Given the description of an element on the screen output the (x, y) to click on. 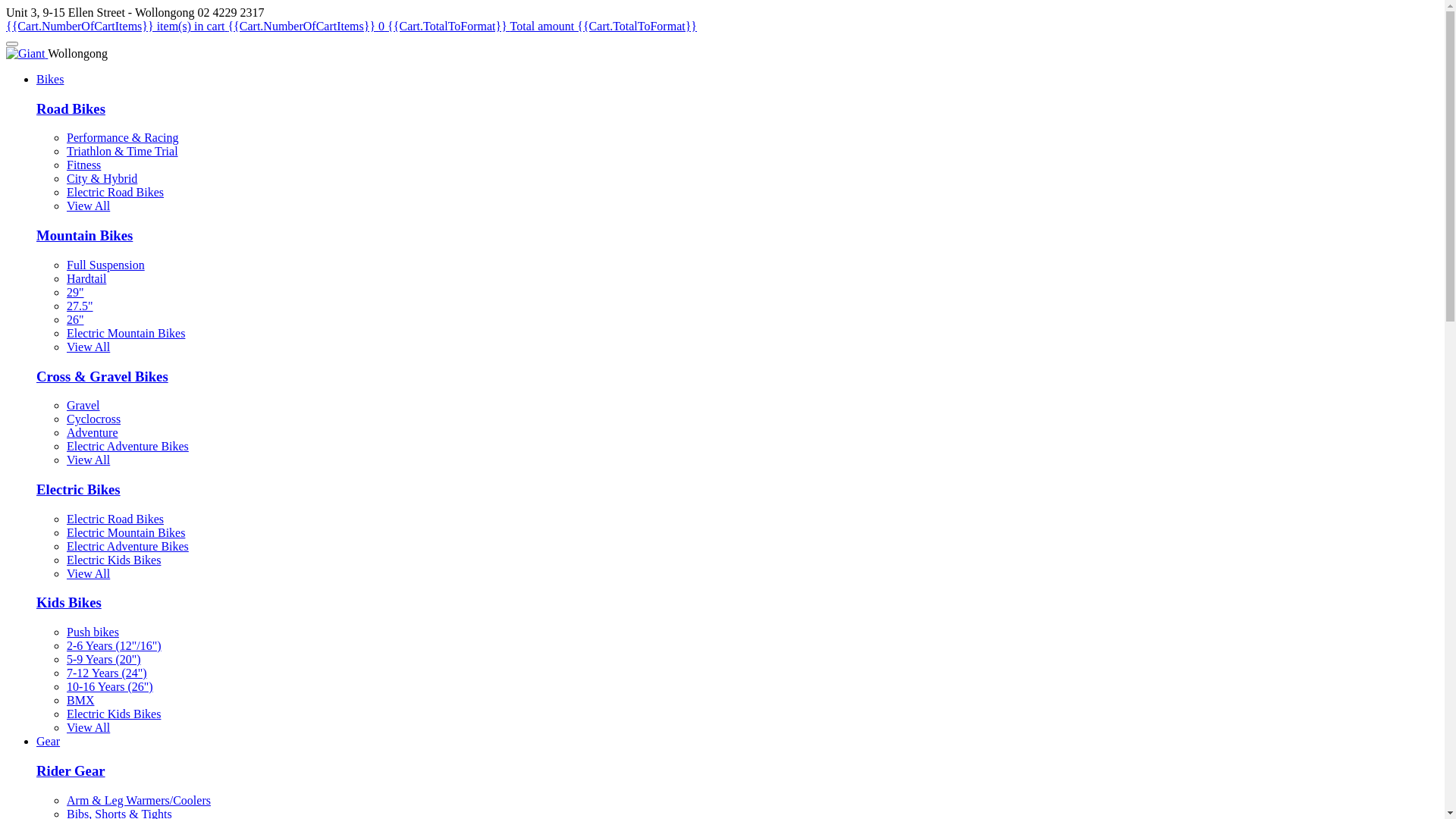
Electric Adventure Bikes Element type: text (127, 545)
Electric Mountain Bikes Element type: text (125, 532)
Triathlon & Time Trial Element type: text (122, 150)
Performance & Racing Element type: text (122, 137)
Gear Element type: text (47, 740)
City & Hybrid Element type: text (101, 178)
Electric Adventure Bikes Element type: text (127, 445)
Push bikes Element type: text (92, 631)
5-9 Years (20") Element type: text (103, 658)
Mountain Bikes Element type: text (84, 235)
BMX Element type: text (80, 699)
Electric Bikes Element type: text (78, 489)
Bikes Element type: text (49, 78)
Electric Kids Bikes Element type: text (113, 559)
Road Bikes Element type: text (70, 108)
View All Element type: text (87, 459)
Gravel Element type: text (83, 404)
View All Element type: text (87, 727)
Electric Kids Bikes Element type: text (113, 713)
View All Element type: text (87, 205)
Adventure Element type: text (92, 432)
Hardtail Element type: text (86, 278)
Electric Road Bikes Element type: text (114, 191)
View All Element type: text (87, 573)
Rider Gear Element type: text (70, 770)
Arm & Leg Warmers/Coolers Element type: text (138, 799)
Fitness Element type: text (83, 164)
Kids Bikes Element type: text (68, 602)
2-6 Years (12"/16") Element type: text (113, 645)
7-12 Years (24") Element type: text (106, 672)
29" Element type: text (75, 291)
Full Suspension Element type: text (105, 264)
View All Element type: text (87, 346)
Cross & Gravel Bikes Element type: text (102, 376)
10-16 Years (26") Element type: text (109, 686)
Electric Mountain Bikes Element type: text (125, 332)
26" Element type: text (75, 319)
Cyclocross Element type: text (93, 418)
Electric Road Bikes Element type: text (114, 518)
27.5" Element type: text (79, 305)
